Given the description of an element on the screen output the (x, y) to click on. 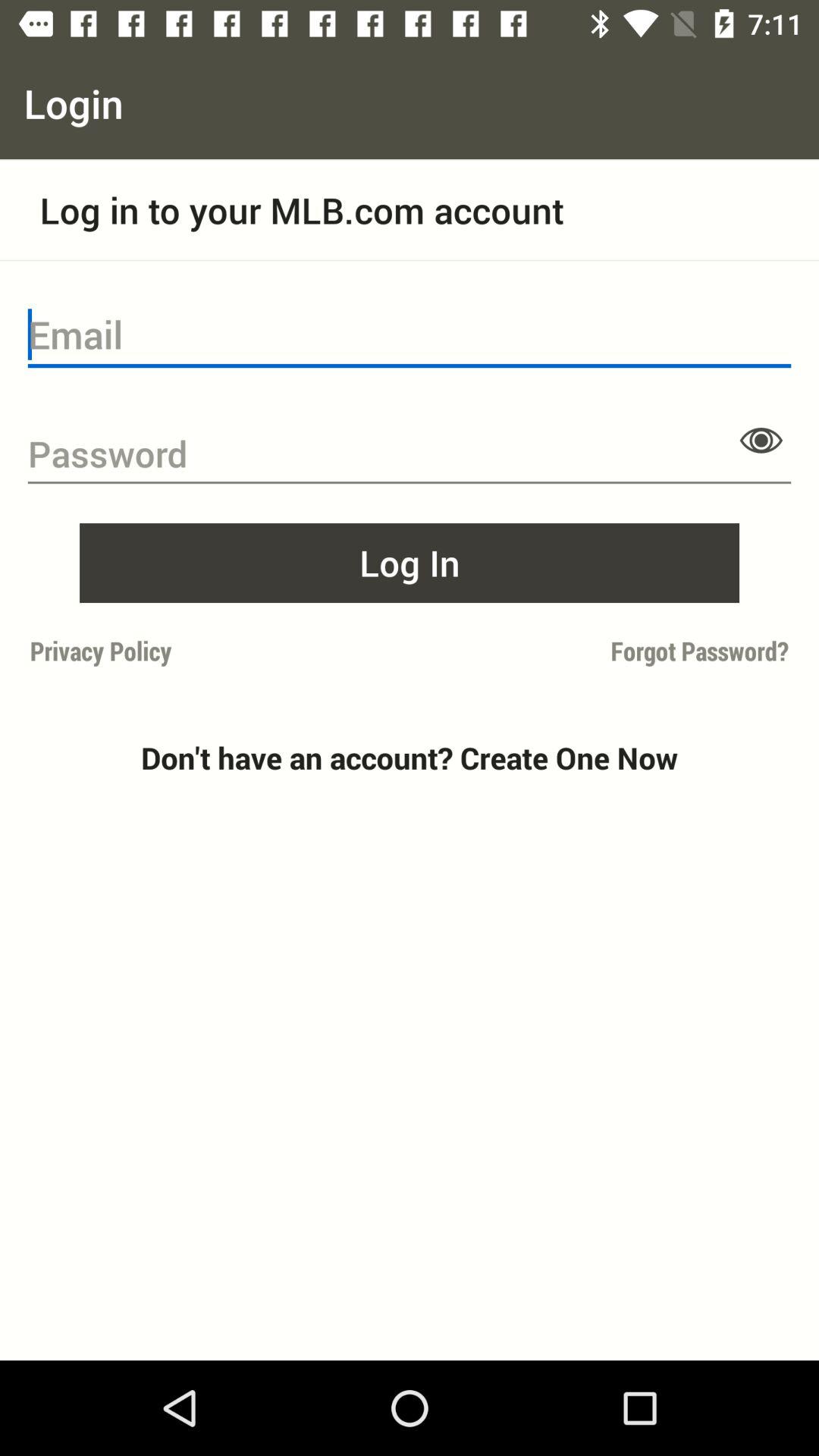
select forgot password? on the right (604, 650)
